Given the description of an element on the screen output the (x, y) to click on. 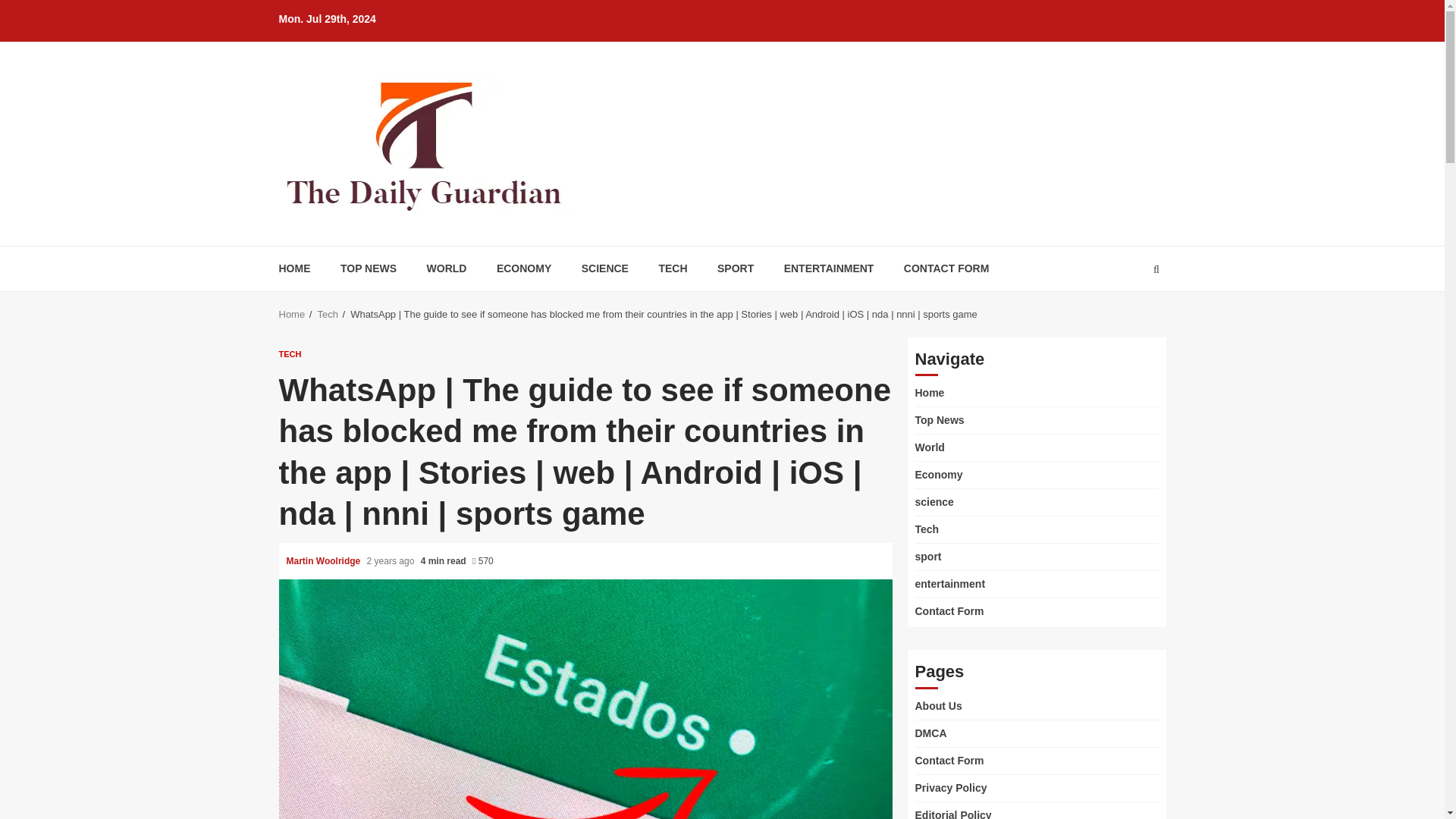
SPORT (735, 268)
TOP NEWS (368, 268)
ECONOMY (523, 268)
Search (1126, 314)
CONTACT FORM (947, 268)
TECH (290, 354)
HOME (295, 268)
570 (482, 561)
Home (292, 314)
ENTERTAINMENT (829, 268)
SCIENCE (604, 268)
Tech (327, 314)
WORLD (446, 268)
TECH (672, 268)
Martin Woolridge (324, 561)
